Given the description of an element on the screen output the (x, y) to click on. 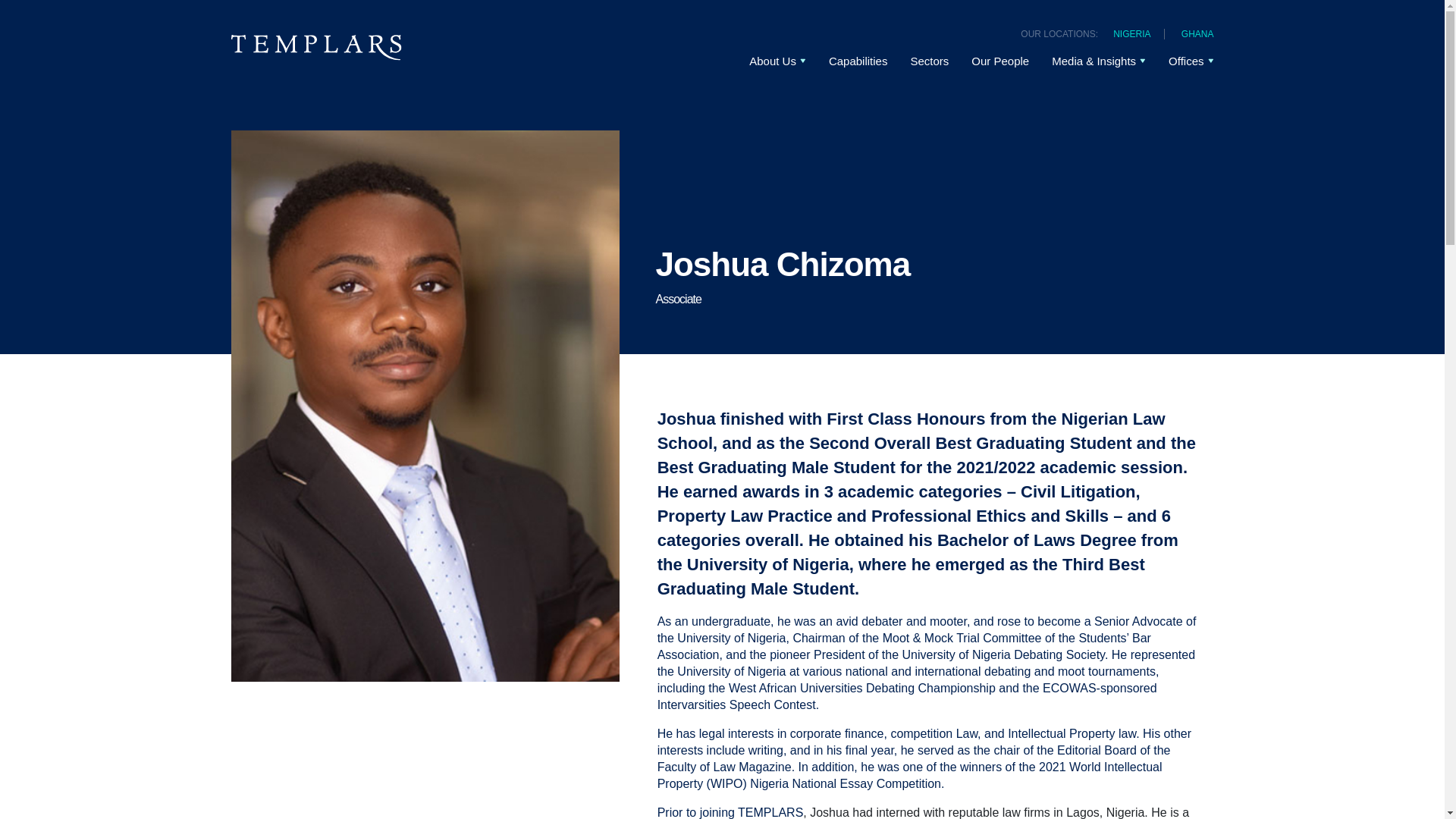
Sectors (929, 49)
About Us (772, 39)
Offices (1186, 59)
Capabilities (858, 47)
Our People (1000, 51)
